Given the description of an element on the screen output the (x, y) to click on. 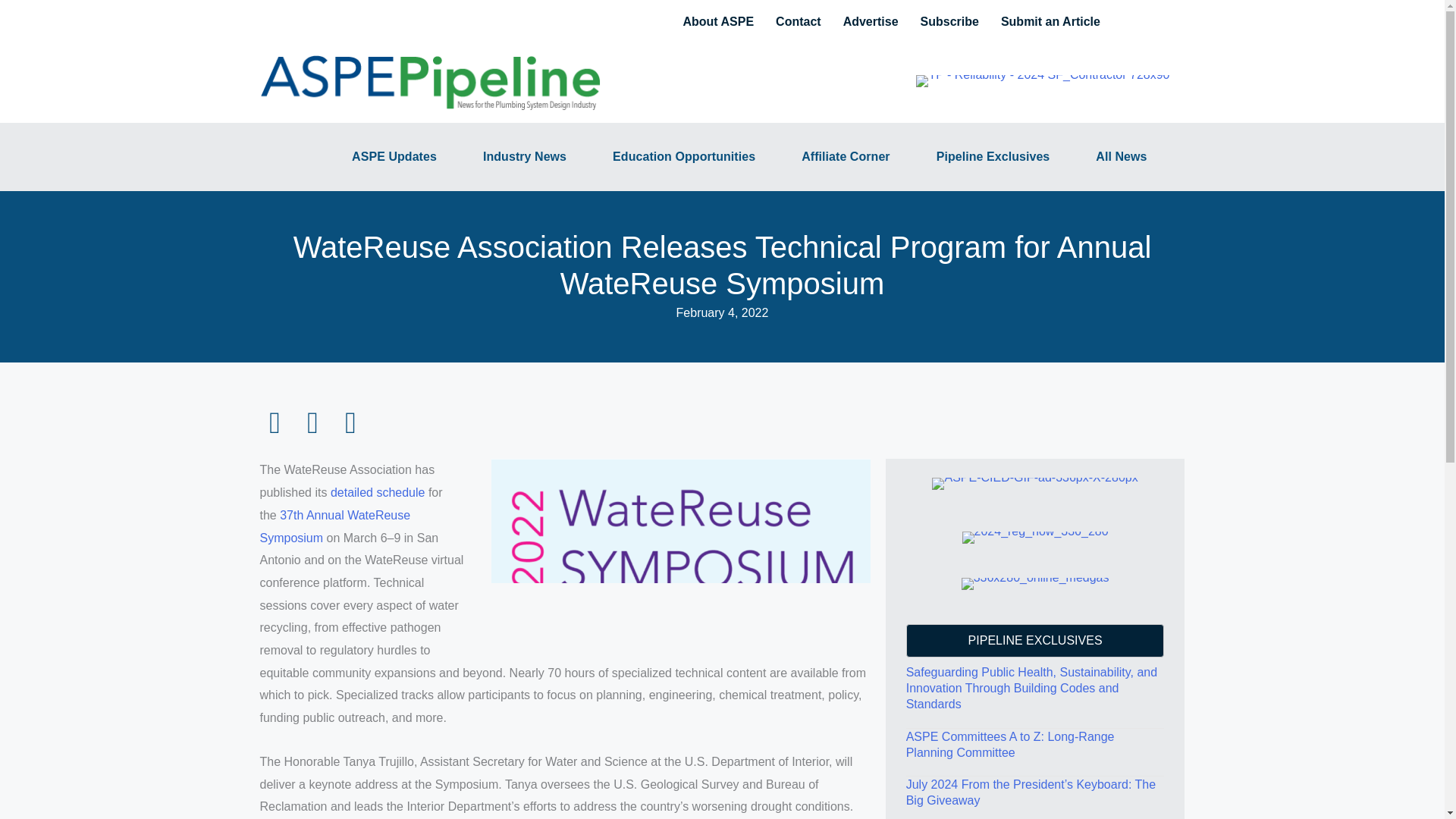
37th Annual WateReuse Symposium (334, 526)
Education Opportunities (683, 157)
Submit an Article (1050, 22)
Contact (798, 22)
Industry News (524, 157)
Advertise (870, 22)
PIPELINE EXCLUSIVES (1034, 640)
detailed schedule (377, 492)
Affiliate Corner (845, 157)
Search (10, 7)
ASPE Committees A to Z: Long-Range Planning Committee (1010, 744)
ASPE-CIED-GIF-ad-336px-X-280px (1034, 483)
Search (1130, 19)
ASPE Updates (394, 157)
